Given the description of an element on the screen output the (x, y) to click on. 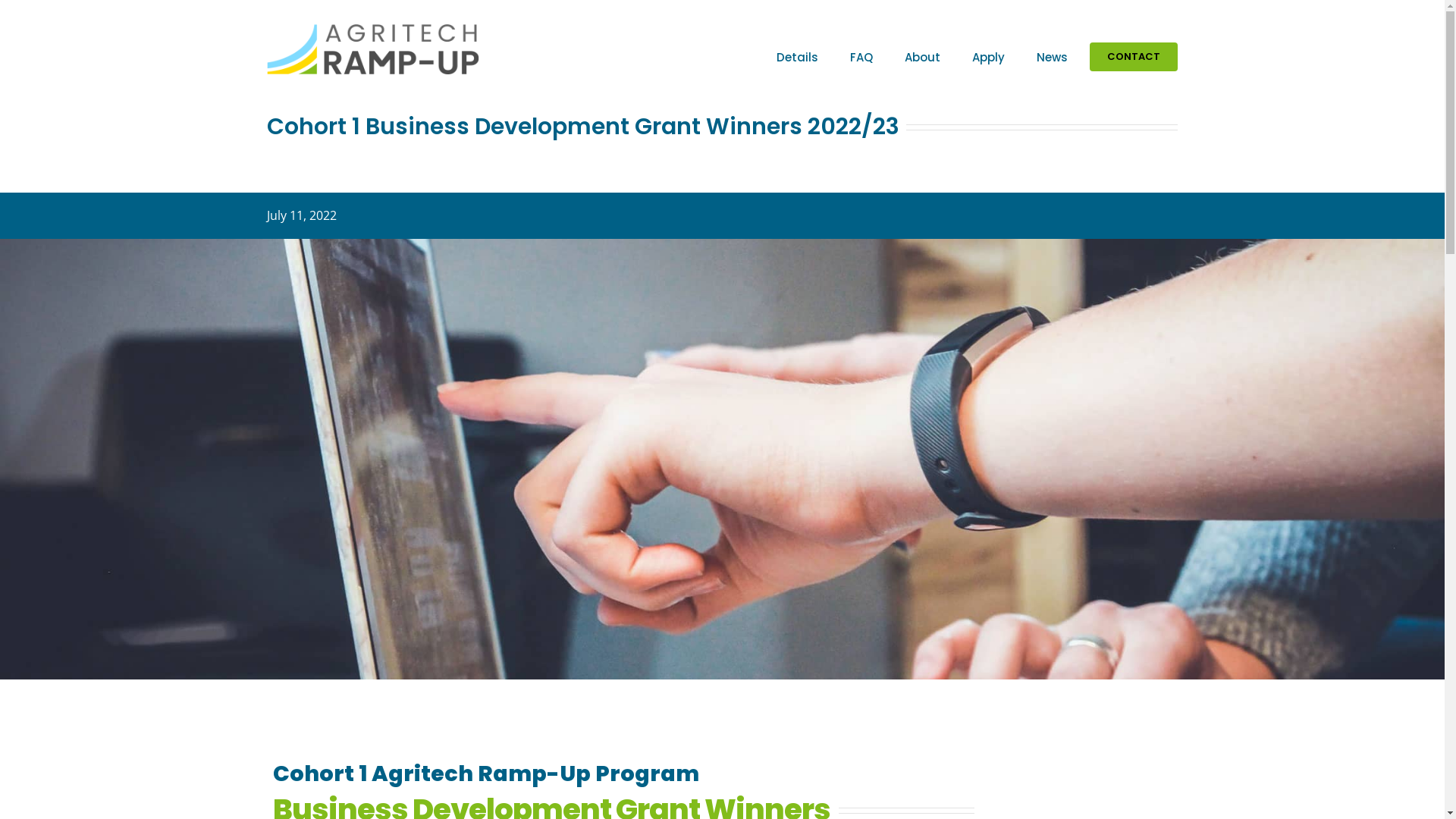
Details Element type: text (797, 56)
News Element type: text (1051, 56)
Apply Element type: text (988, 56)
About Element type: text (922, 56)
CONTACT Element type: text (1133, 56)
FAQ Element type: text (861, 56)
